Given the description of an element on the screen output the (x, y) to click on. 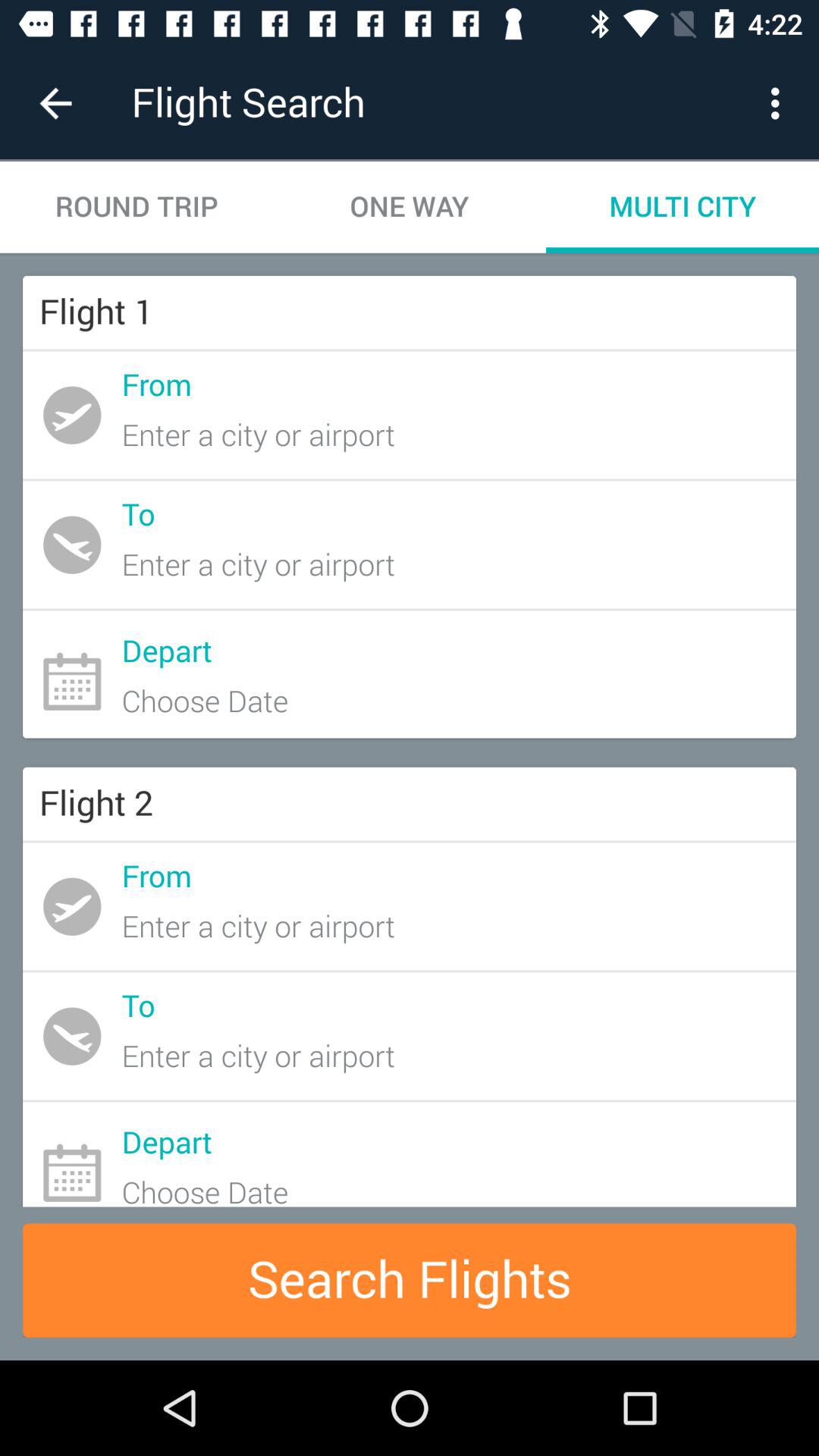
press icon to the right of one way icon (779, 103)
